Given the description of an element on the screen output the (x, y) to click on. 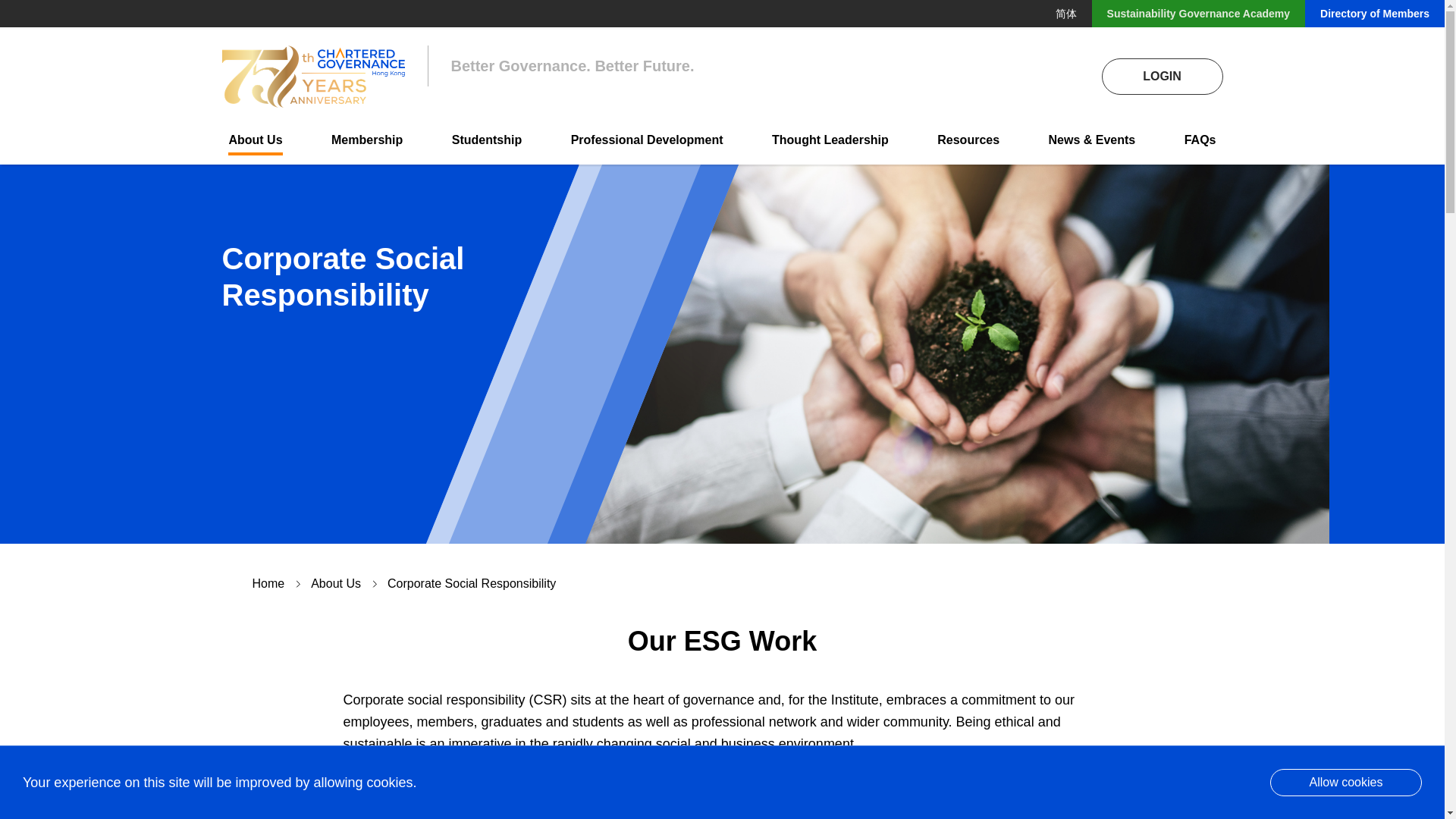
LOGIN (1161, 76)
Scroll To Top (1403, 777)
Membership (367, 143)
Studentship (486, 143)
About Us (255, 143)
Sustainability Governance Academy (1198, 13)
